Given the description of an element on the screen output the (x, y) to click on. 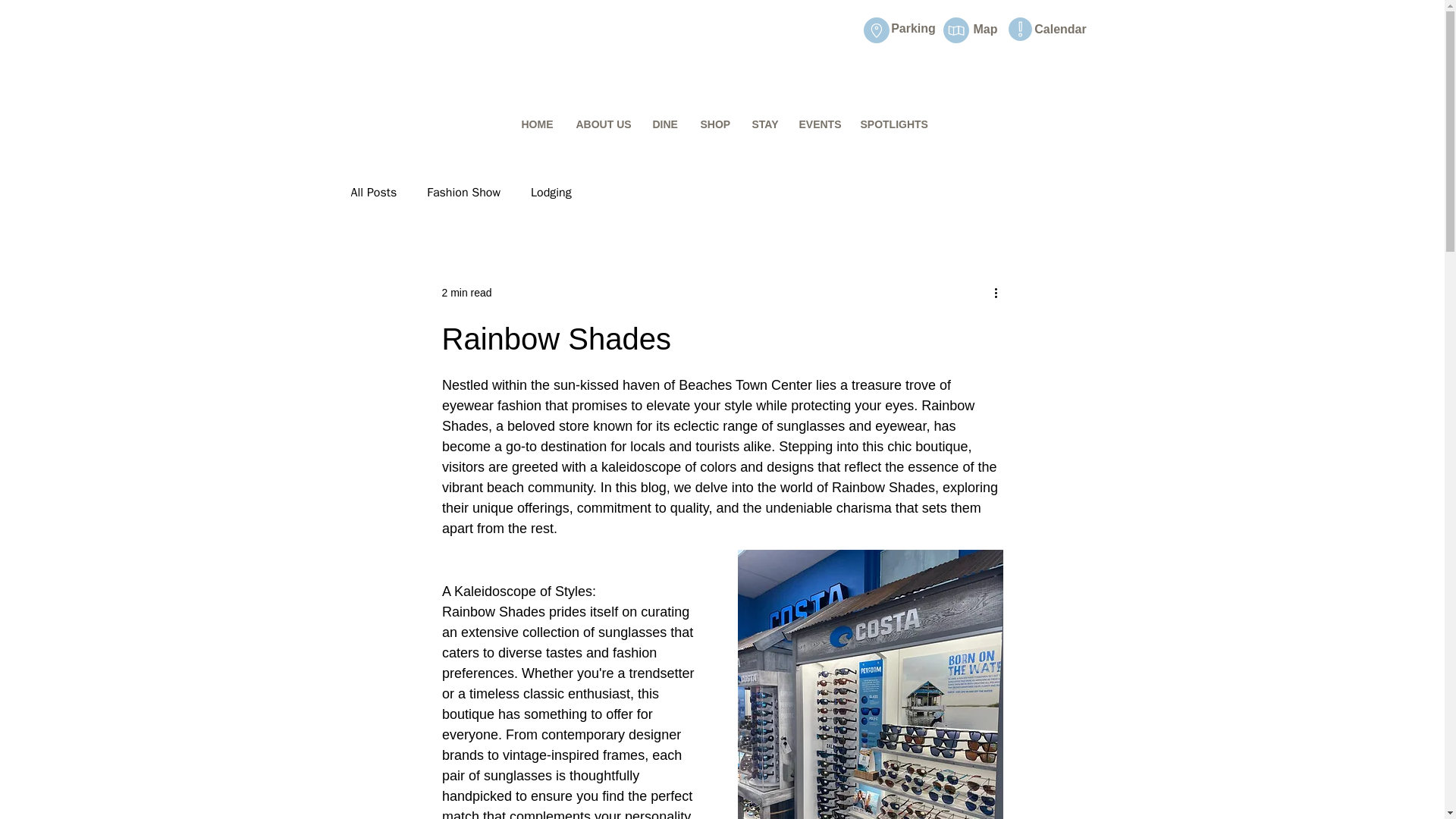
DINE (665, 124)
All Posts (373, 192)
Lodging (551, 192)
HOME (536, 124)
2 min read (466, 292)
Map (985, 29)
Calendar (1059, 29)
Fashion Show (463, 192)
Parking (913, 28)
